Given the description of an element on the screen output the (x, y) to click on. 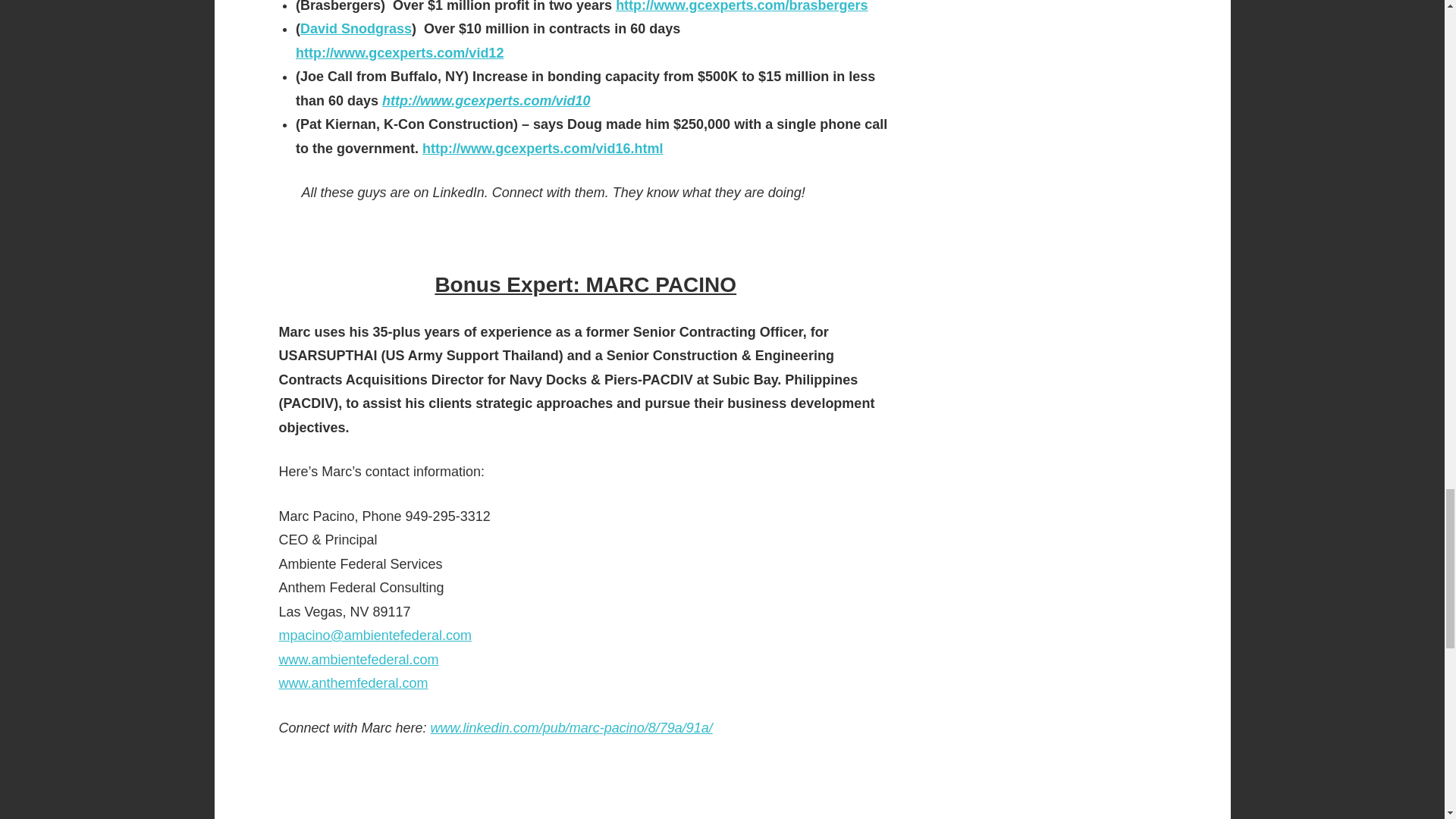
www.anthemfederal.com (353, 683)
David Snodgrass (355, 28)
www.ambientefederal.com (359, 659)
